Given the description of an element on the screen output the (x, y) to click on. 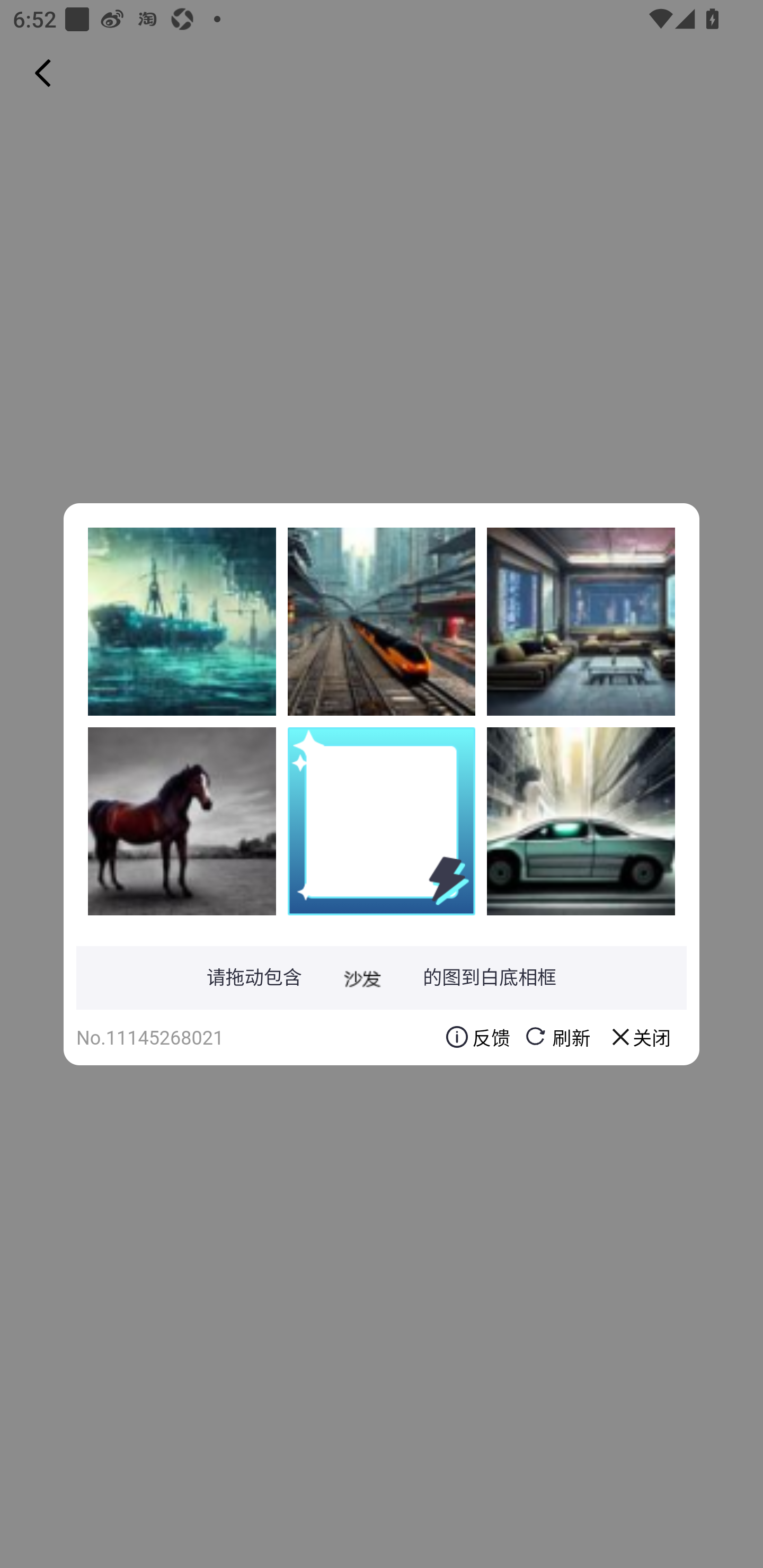
W (181, 621)
2L+4ZcMvf5X1I7IENEzscNAPKCJrS (580, 621)
GwIWLIStg4P0SMjYfArn5T (580, 820)
